Given the description of an element on the screen output the (x, y) to click on. 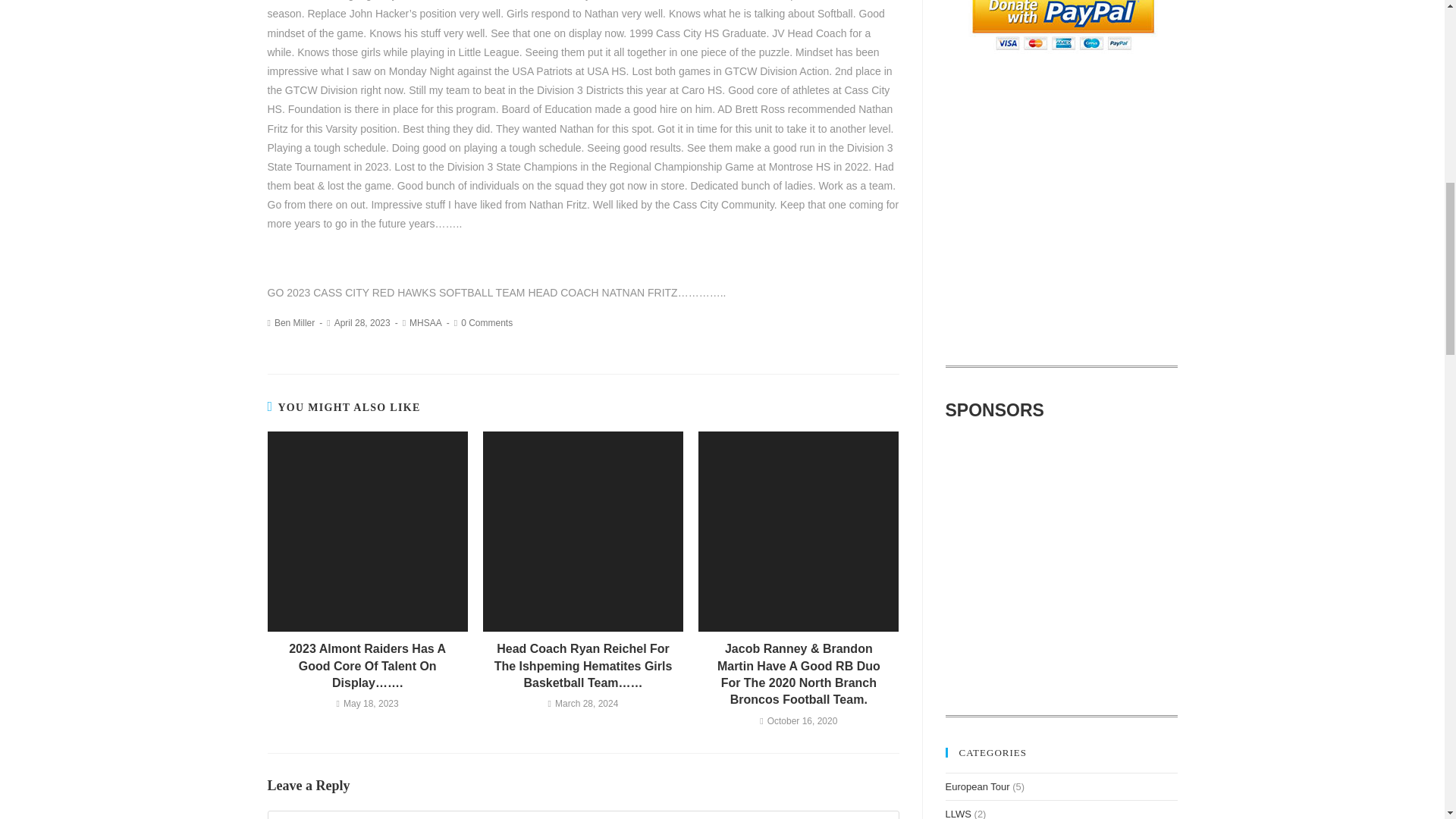
European Tour (976, 786)
PayPal - The safer, easier way to pay online! (1061, 27)
MHSAA (425, 322)
LLWS (957, 813)
Ben Miller (294, 322)
0 Comments (486, 322)
Posts by Ben Miller (294, 322)
